Given the description of an element on the screen output the (x, y) to click on. 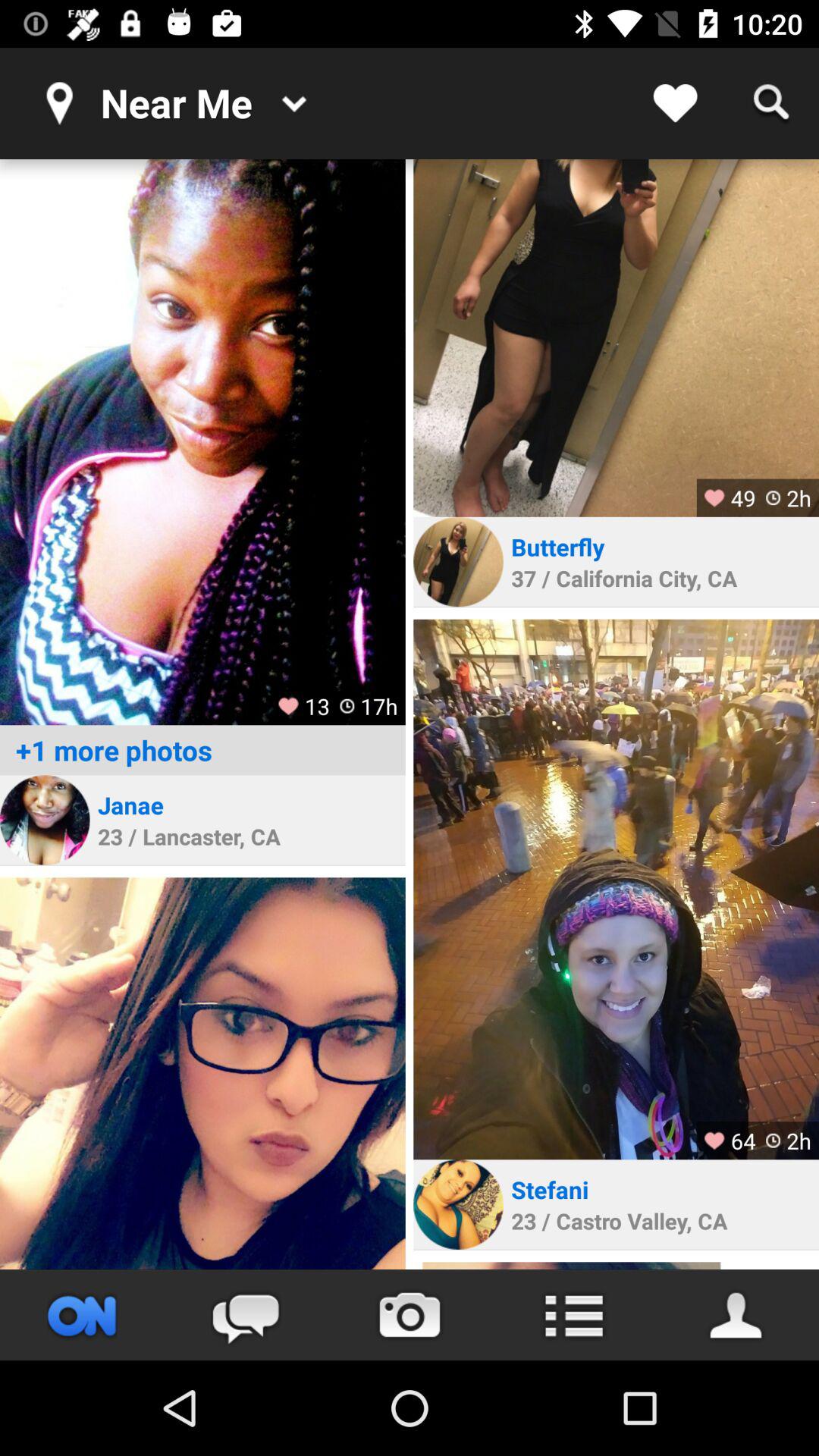
view profile (44, 820)
